Given the description of an element on the screen output the (x, y) to click on. 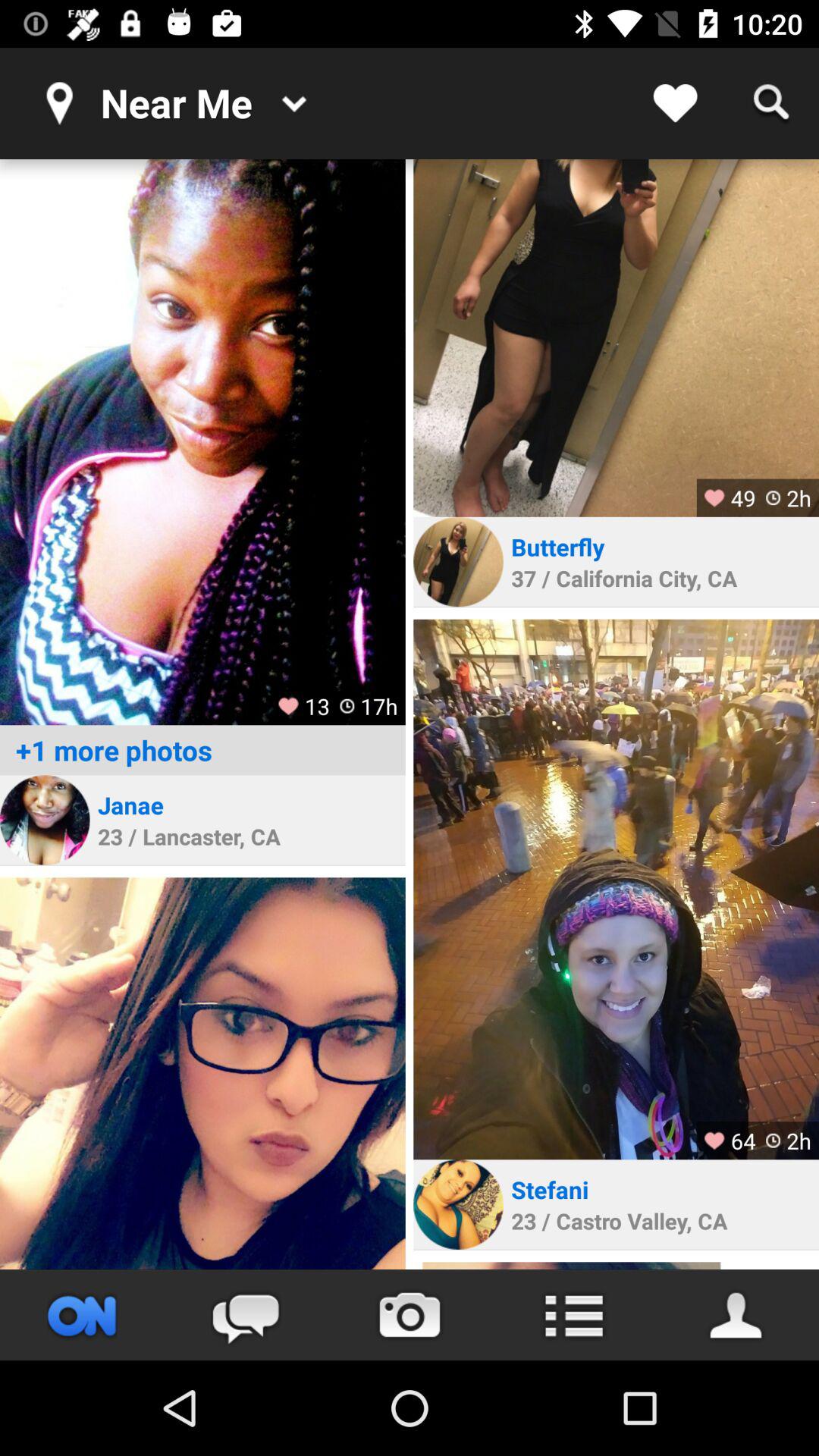
view profile (44, 820)
